Given the description of an element on the screen output the (x, y) to click on. 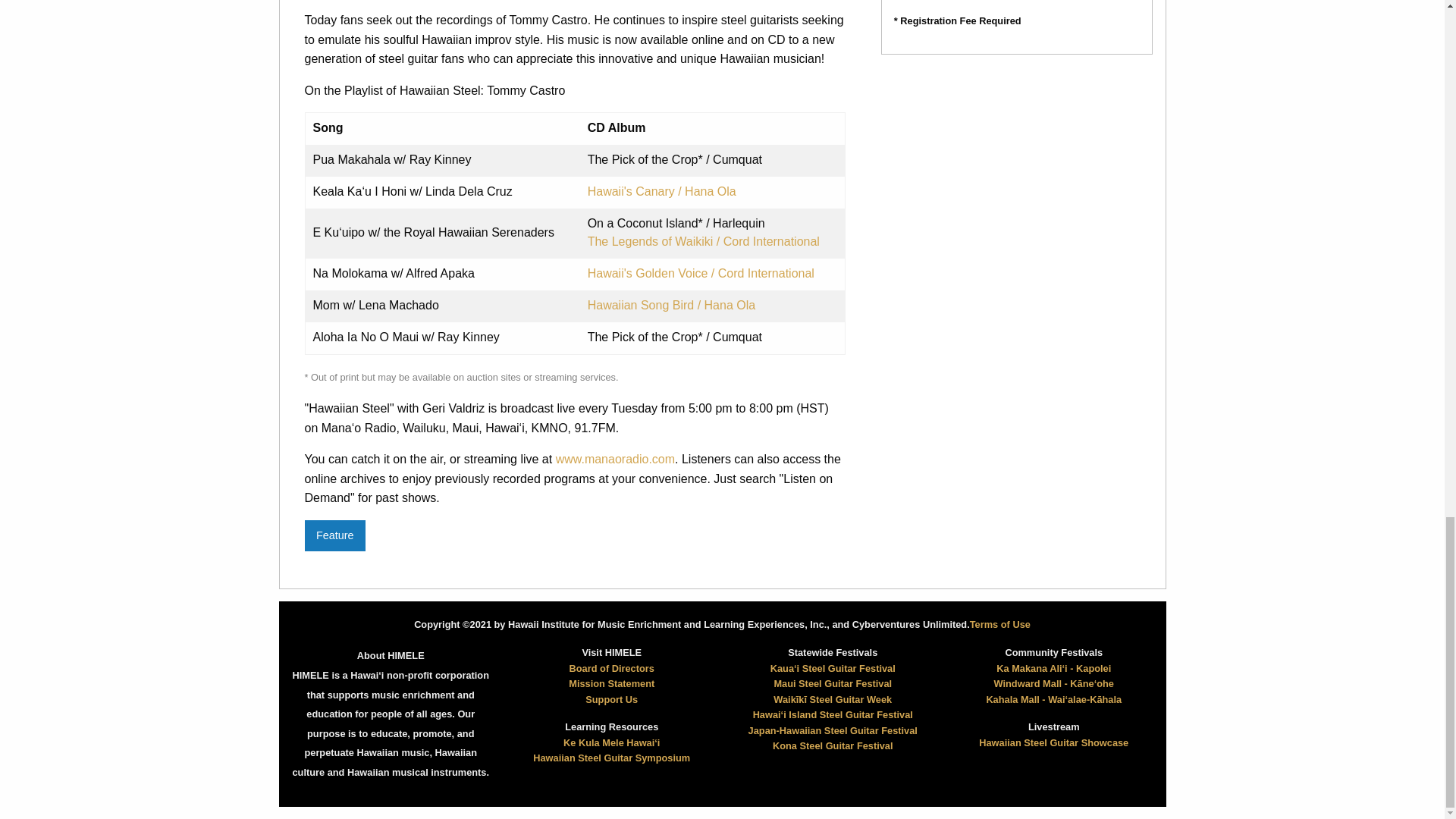
Board of Directors (611, 668)
Feature (334, 535)
Mission Statement (611, 683)
www.manaoradio.com (615, 459)
Terms of Use (999, 624)
